Given the description of an element on the screen output the (x, y) to click on. 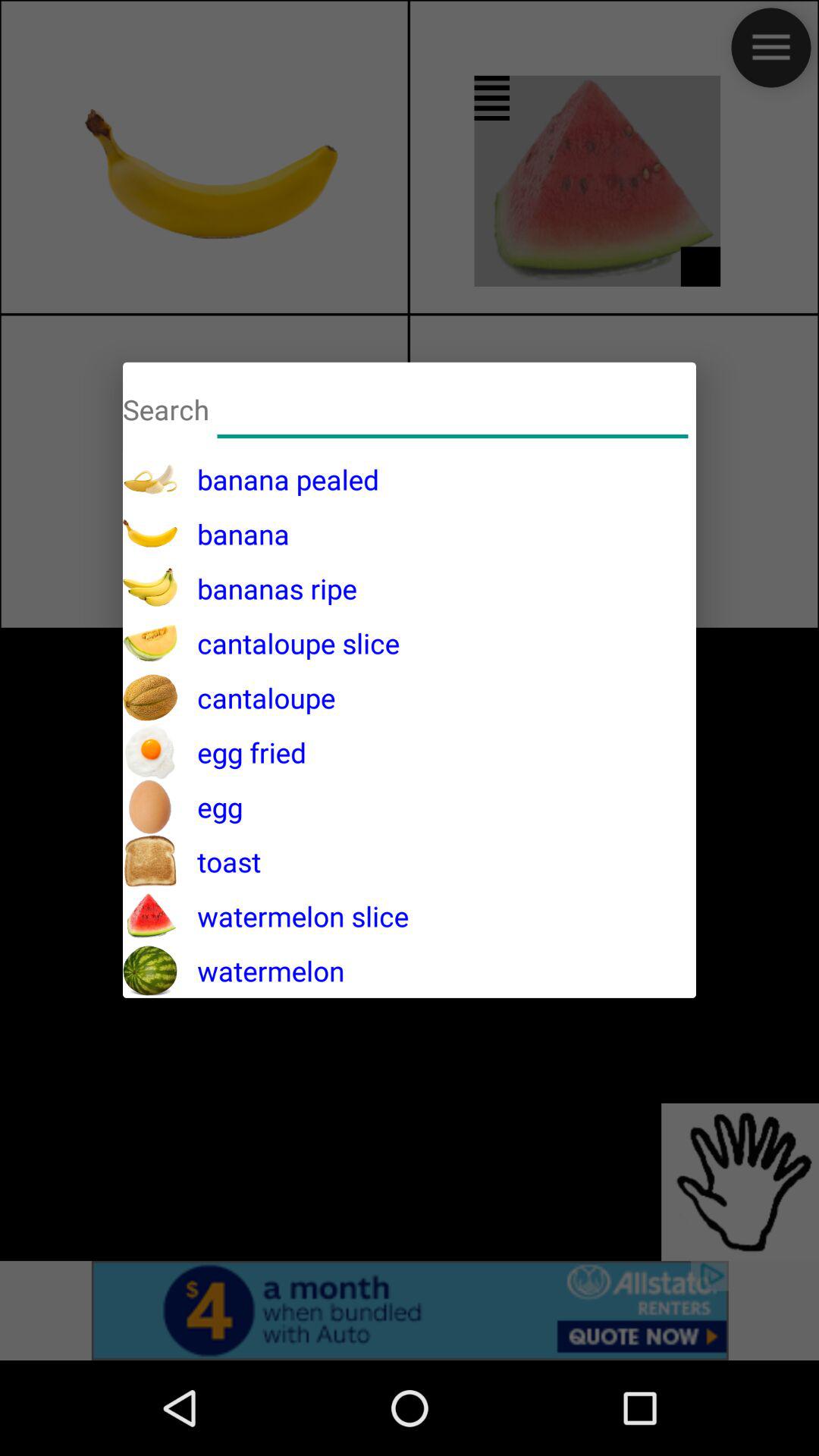
search options (452, 407)
